Given the description of an element on the screen output the (x, y) to click on. 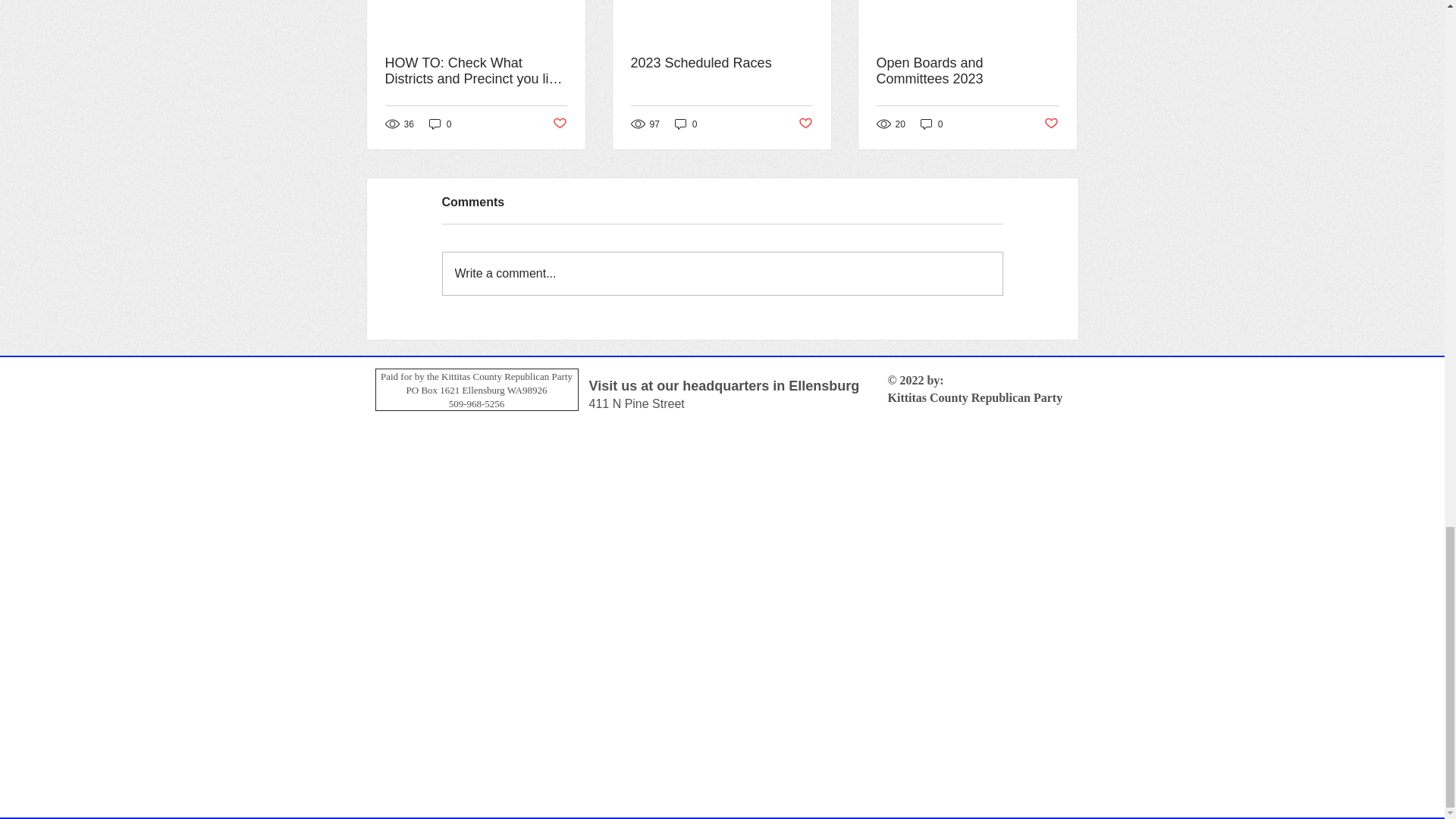
Post not marked as liked (558, 123)
Write a comment... (722, 273)
0 (931, 124)
Post not marked as liked (804, 123)
Open Boards and Committees 2023 (967, 70)
0 (685, 124)
0 (440, 124)
Post not marked as liked (1050, 123)
HOW TO: Check What Districts and Precinct you live in (476, 70)
2023 Scheduled Races (721, 63)
